Given the description of an element on the screen output the (x, y) to click on. 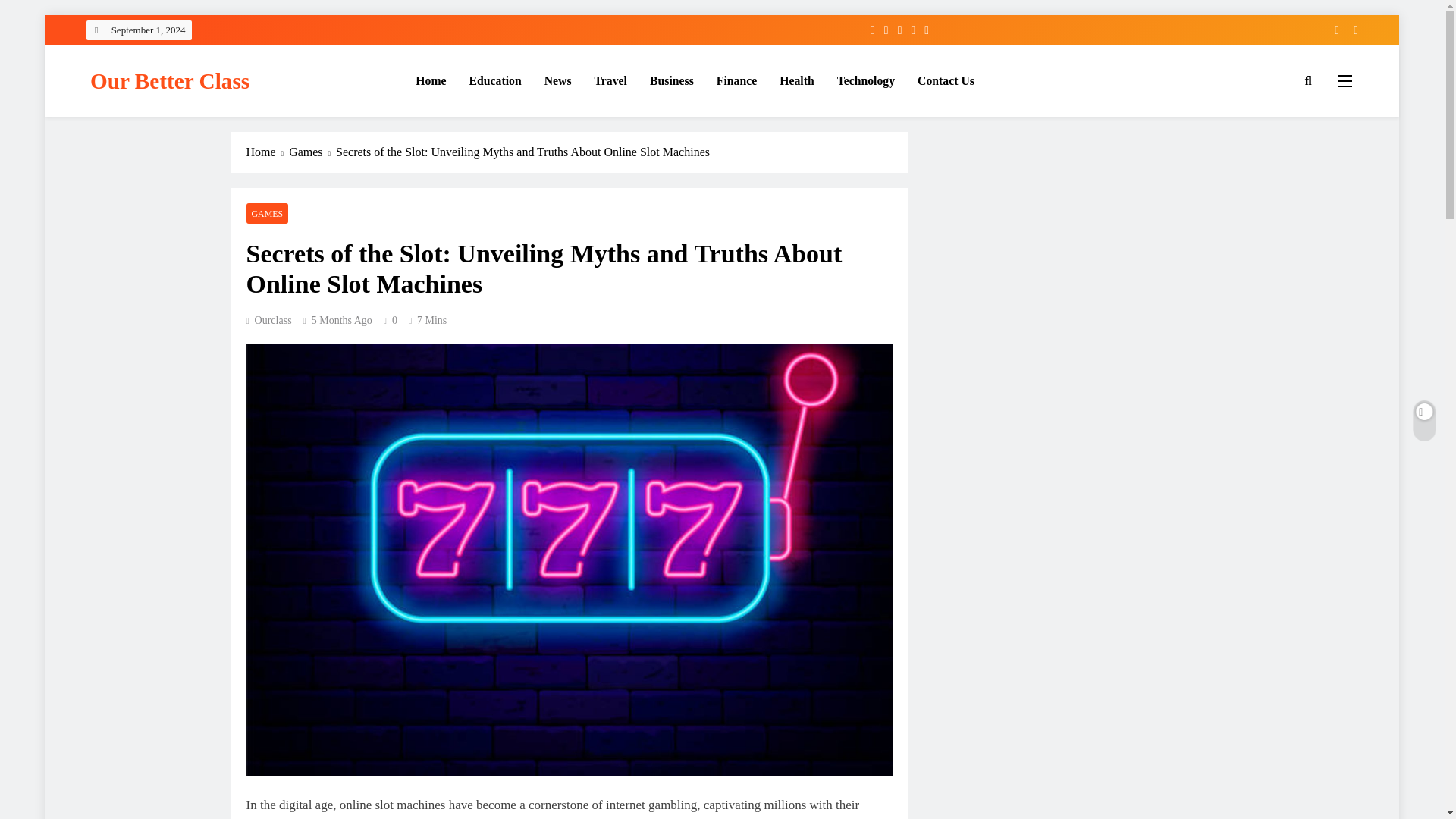
Home (430, 80)
Ourclass (268, 319)
News (557, 80)
Finance (736, 80)
Games (312, 152)
Our Better Class (169, 79)
Home (267, 152)
Travel (611, 80)
Business (671, 80)
